Given the description of an element on the screen output the (x, y) to click on. 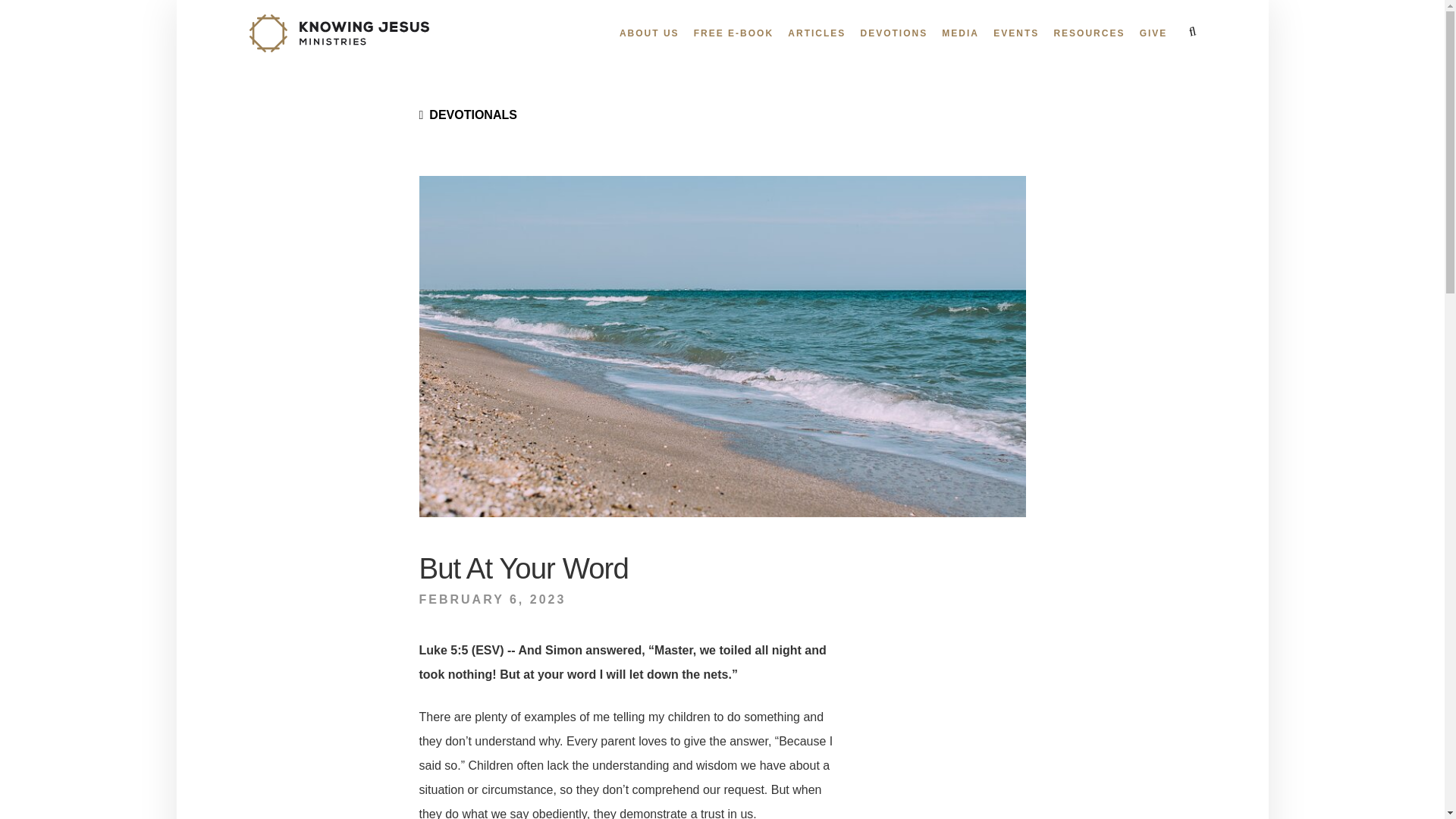
DEVOTIONS (893, 33)
MEDIA (960, 33)
FREE E-BOOK (733, 33)
ABOUT US (649, 33)
EVENTS (1015, 33)
ARTICLES (816, 33)
